Given the description of an element on the screen output the (x, y) to click on. 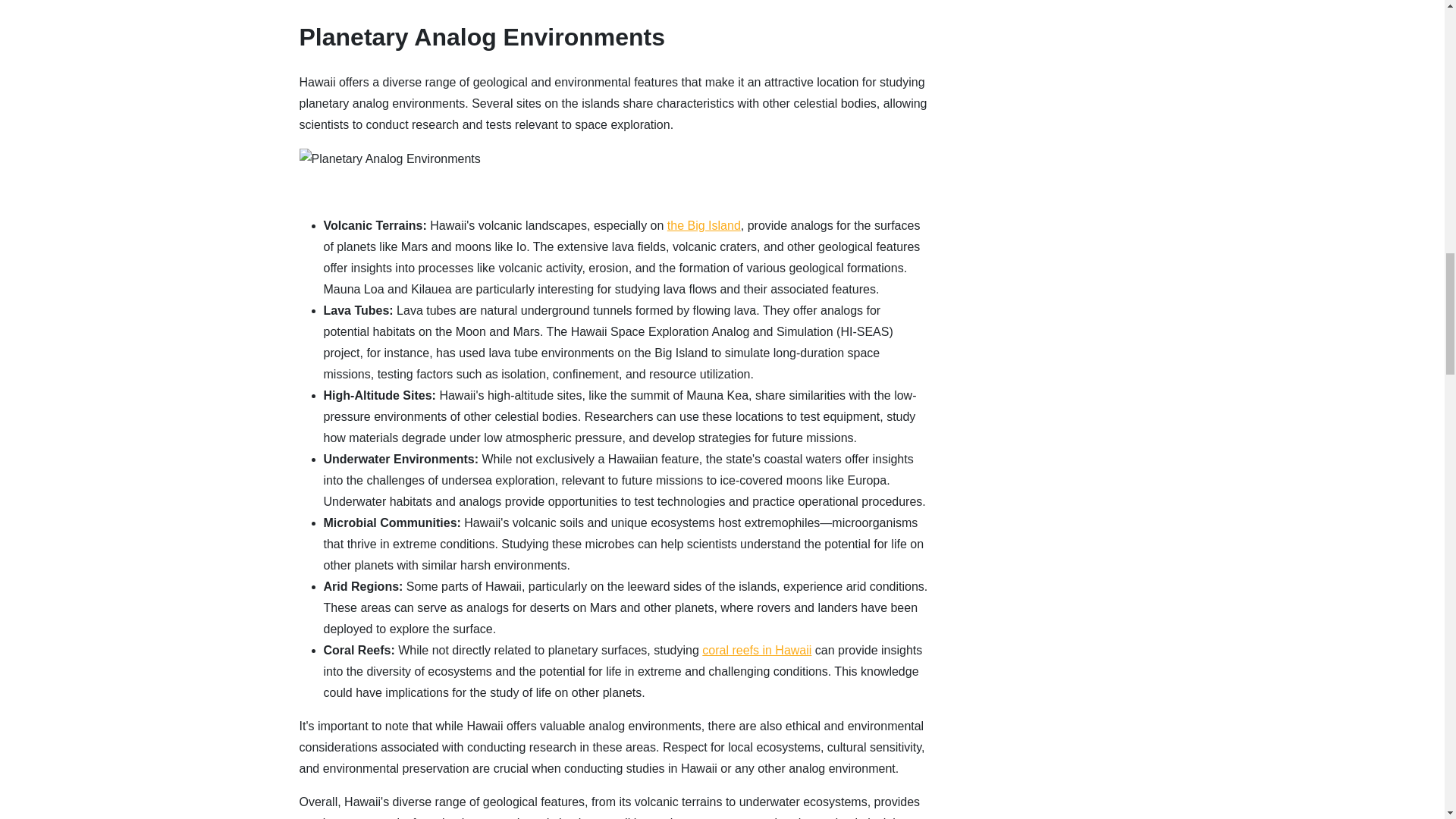
coral reefs in Hawaii (755, 649)
the Big Island (703, 225)
